Given the description of an element on the screen output the (x, y) to click on. 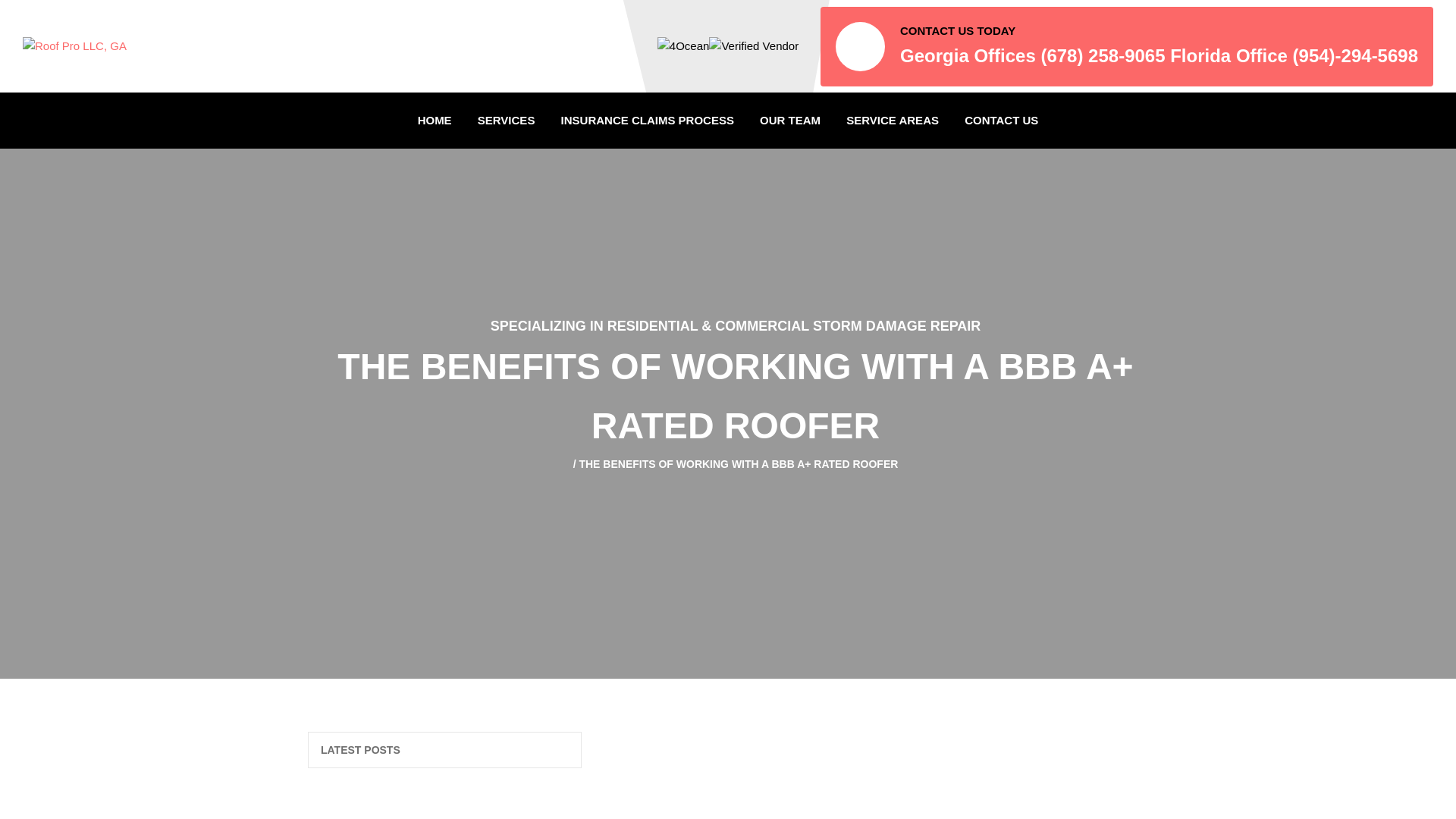
SERVICE AREAS (892, 120)
4Ocean (684, 45)
SERVICES (506, 120)
HOME (434, 120)
Verified Vendor (753, 45)
OUR TEAM (789, 120)
CONTACT US (1001, 120)
Roof Pro LLC (74, 45)
INSURANCE CLAIMS PROCESS (647, 120)
